Given the description of an element on the screen output the (x, y) to click on. 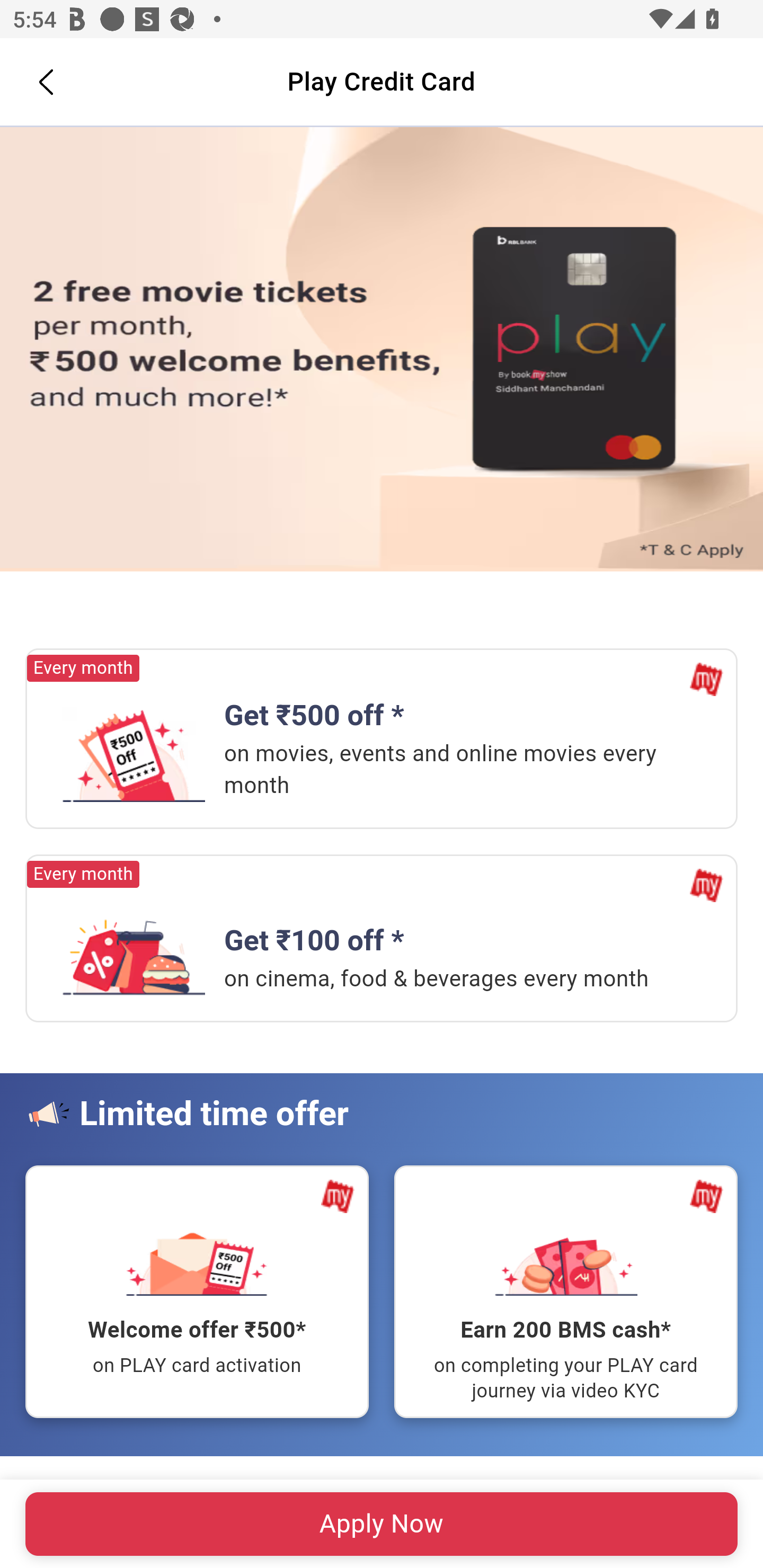
Apply Now (381, 349)
BookMyShow (706, 679)
Get ₹500 off * (133, 753)
BookMyShow (706, 885)
Get ₹100 off * (133, 947)
BookMyShow (337, 1196)
BookMyShow (706, 1196)
Apply Now (381, 1523)
